Given the description of an element on the screen output the (x, y) to click on. 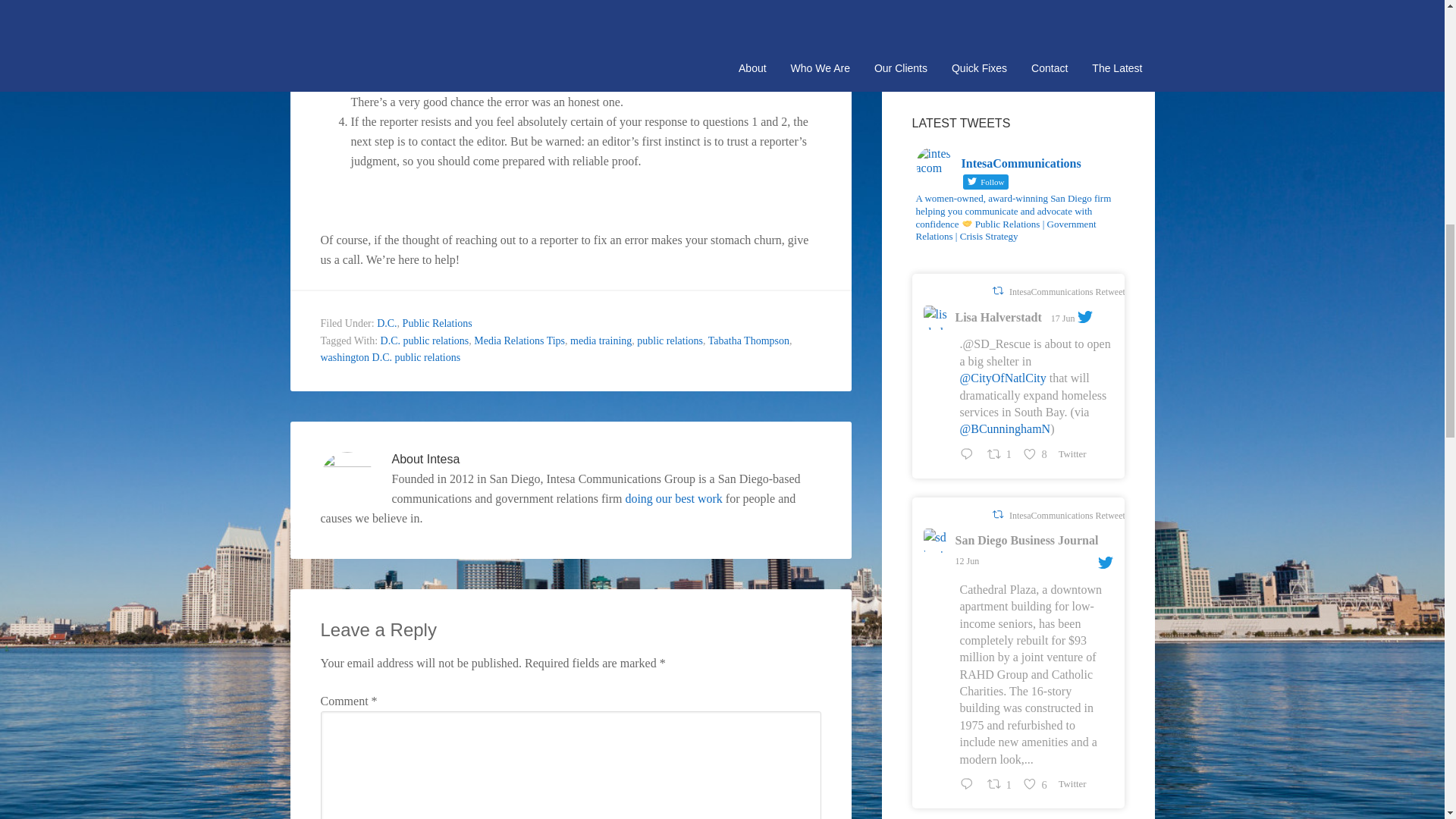
public relations (670, 340)
Public Relations (437, 323)
D.C. public relations (424, 340)
Shattering Ceilings: Women Leaders Paving the Way at Intesa (1000, 10)
Retweet on Twitter (997, 290)
doing our best work (673, 498)
IntesaCommunications Retweeted (1071, 291)
Tabatha Thompson (748, 340)
D.C. (386, 323)
Media Relations Tips (519, 340)
media training (600, 340)
washington D.C. public relations (390, 357)
